Given the description of an element on the screen output the (x, y) to click on. 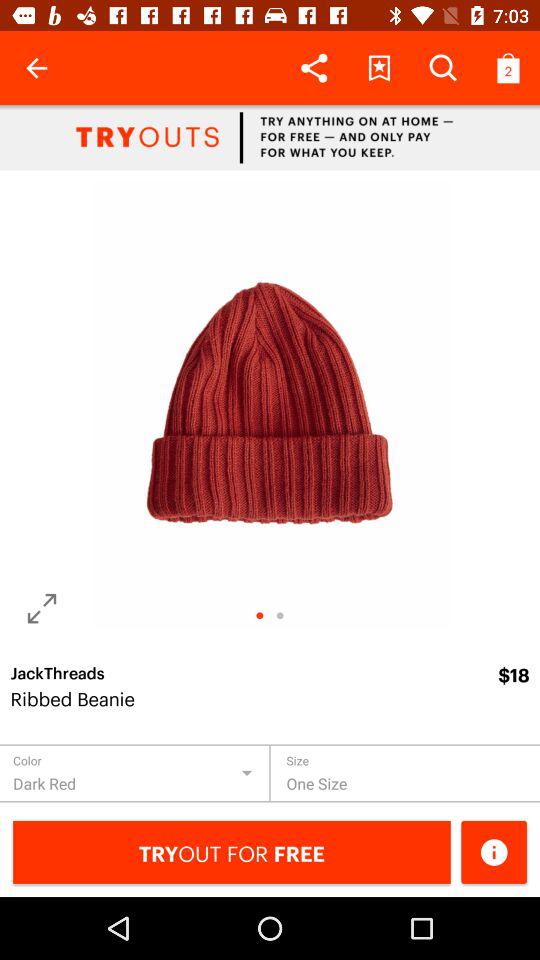
change angle of photo (42, 608)
